Given the description of an element on the screen output the (x, y) to click on. 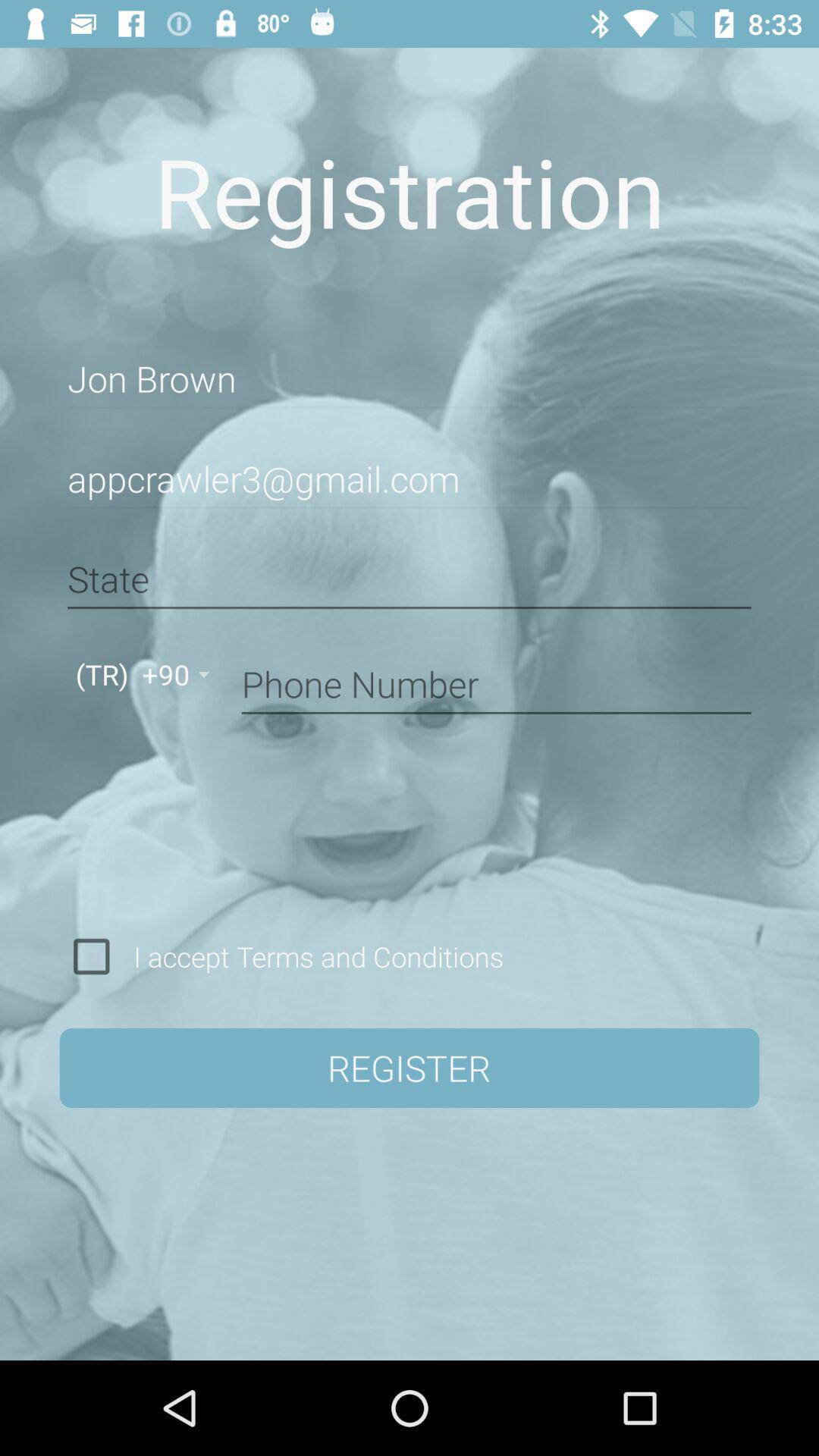
your phone number (496, 681)
